Given the description of an element on the screen output the (x, y) to click on. 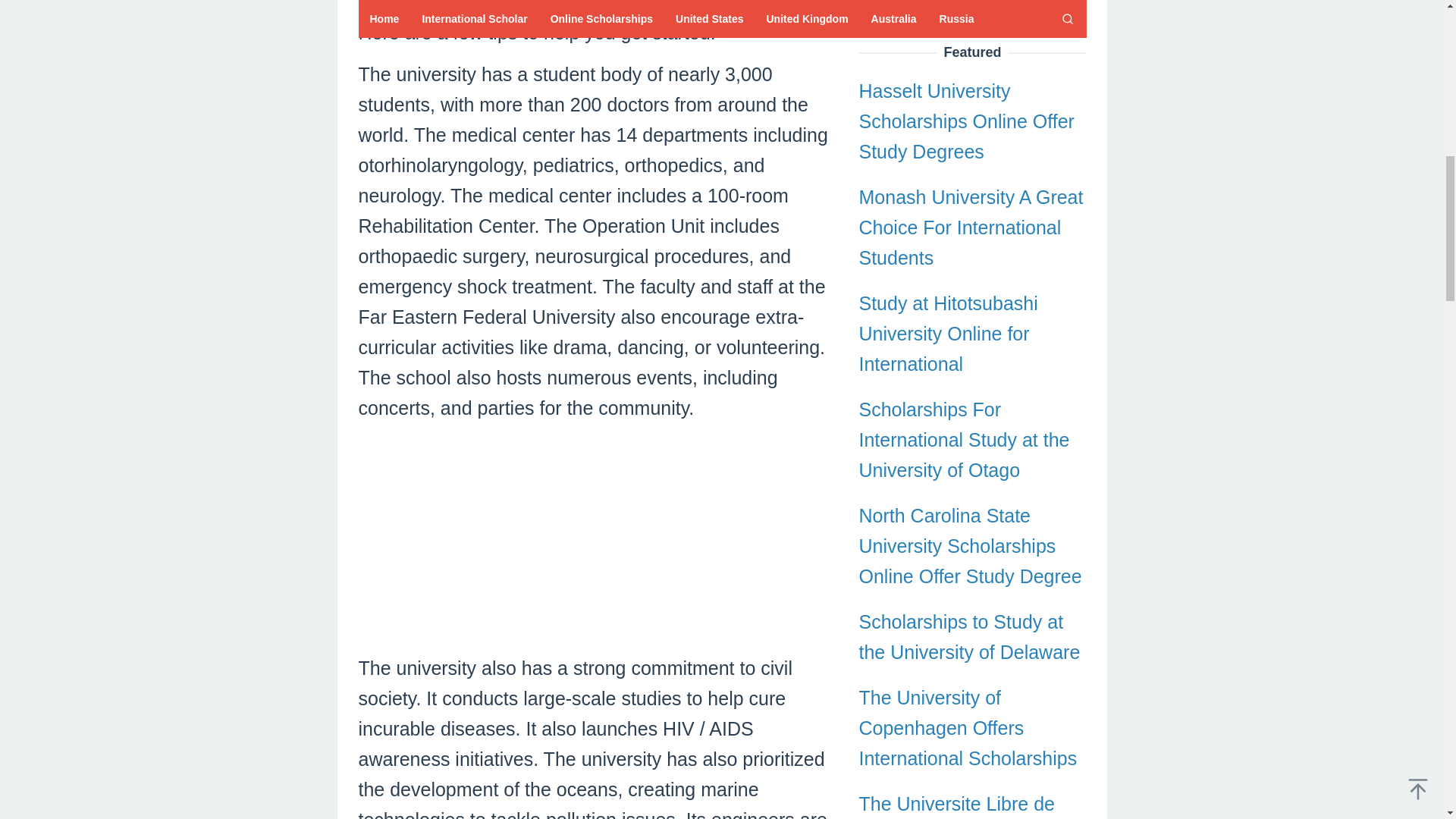
Scholarships to Study at the University of Delaware (969, 11)
Cornell University Offers International Scholarships (968, 693)
